Given the description of an element on the screen output the (x, y) to click on. 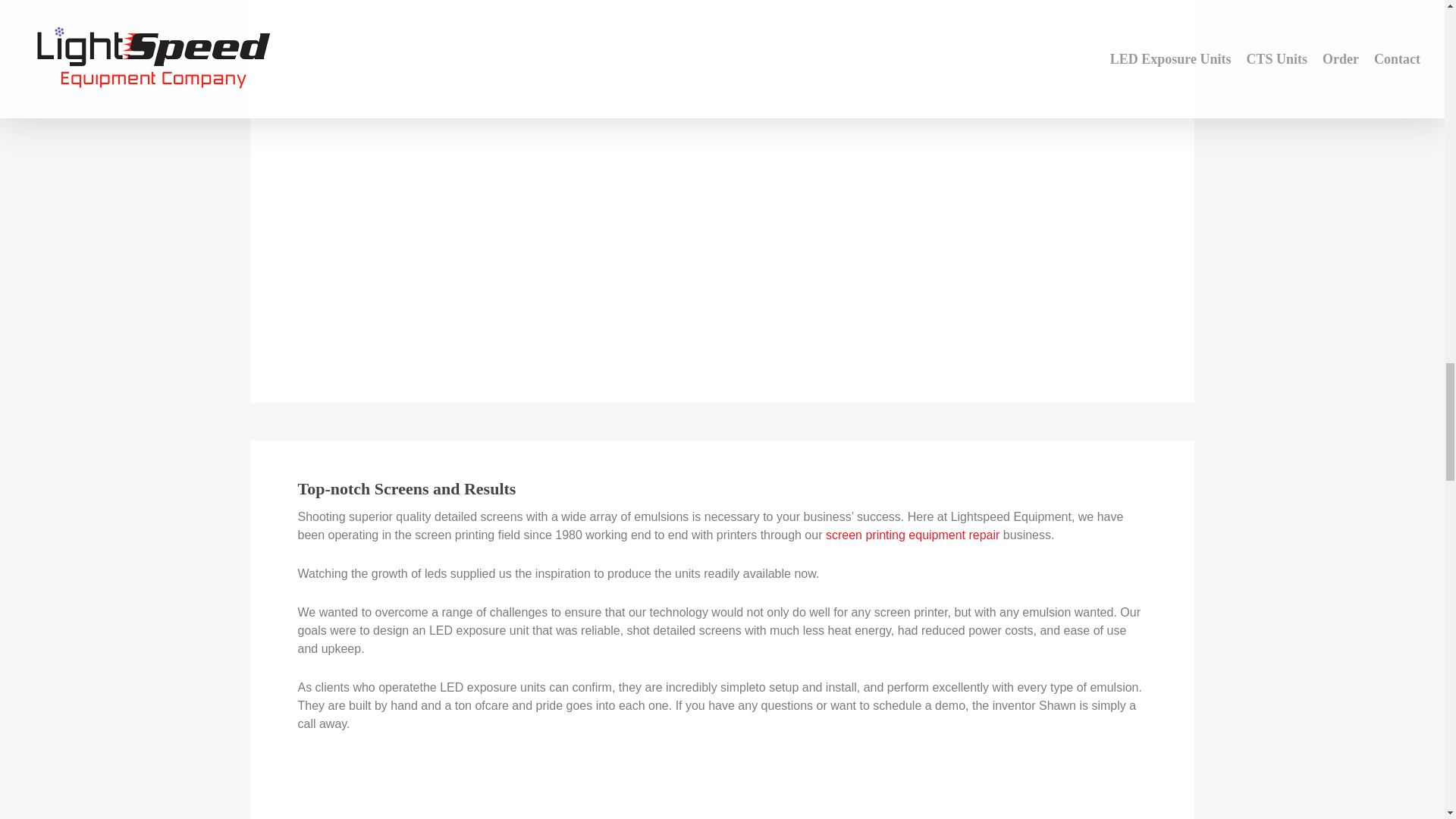
screen printing equipment repair (911, 534)
